Given the description of an element on the screen output the (x, y) to click on. 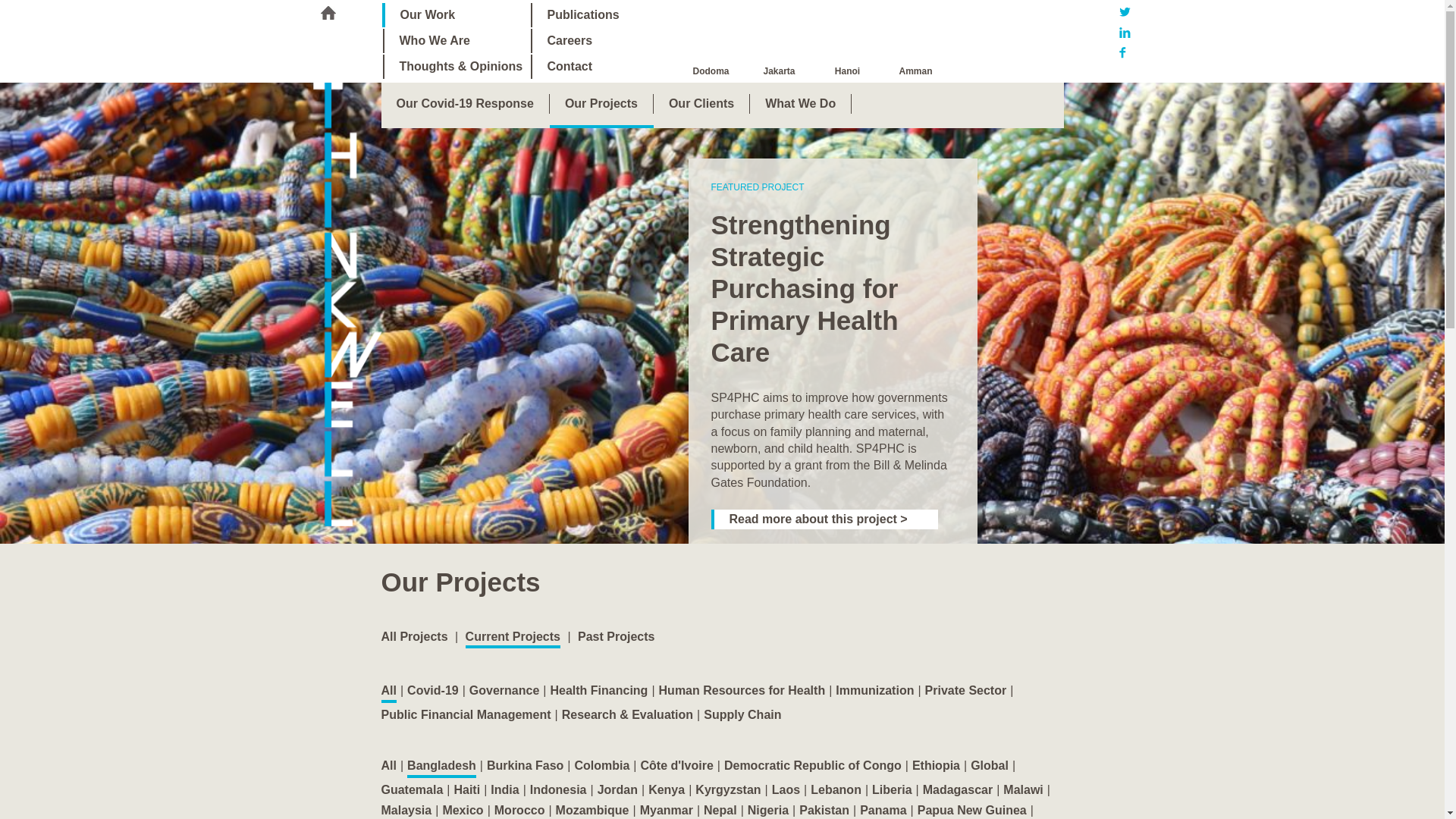
Our Work (456, 15)
